Given the description of an element on the screen output the (x, y) to click on. 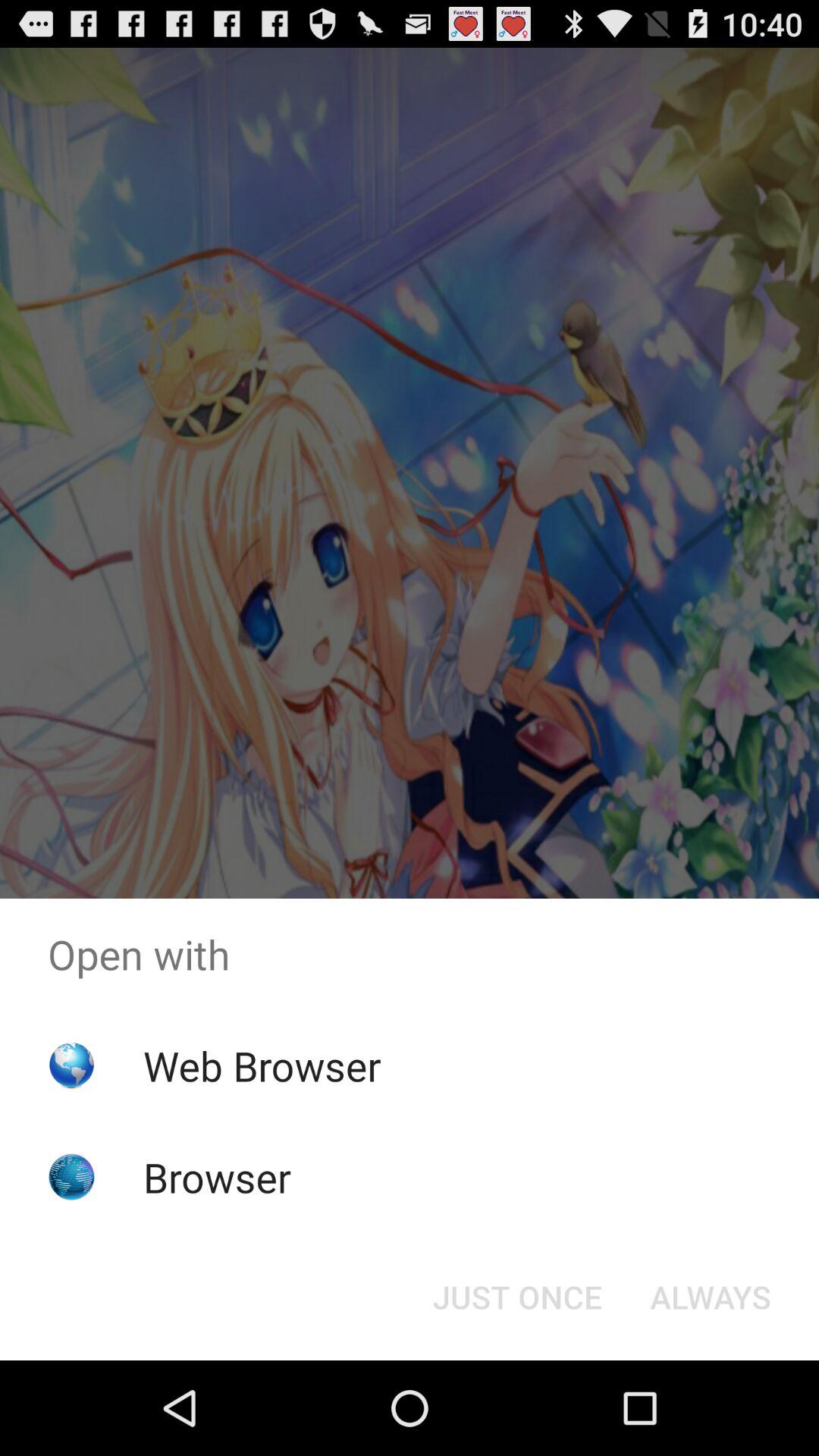
launch the item next to the always button (517, 1296)
